Given the description of an element on the screen output the (x, y) to click on. 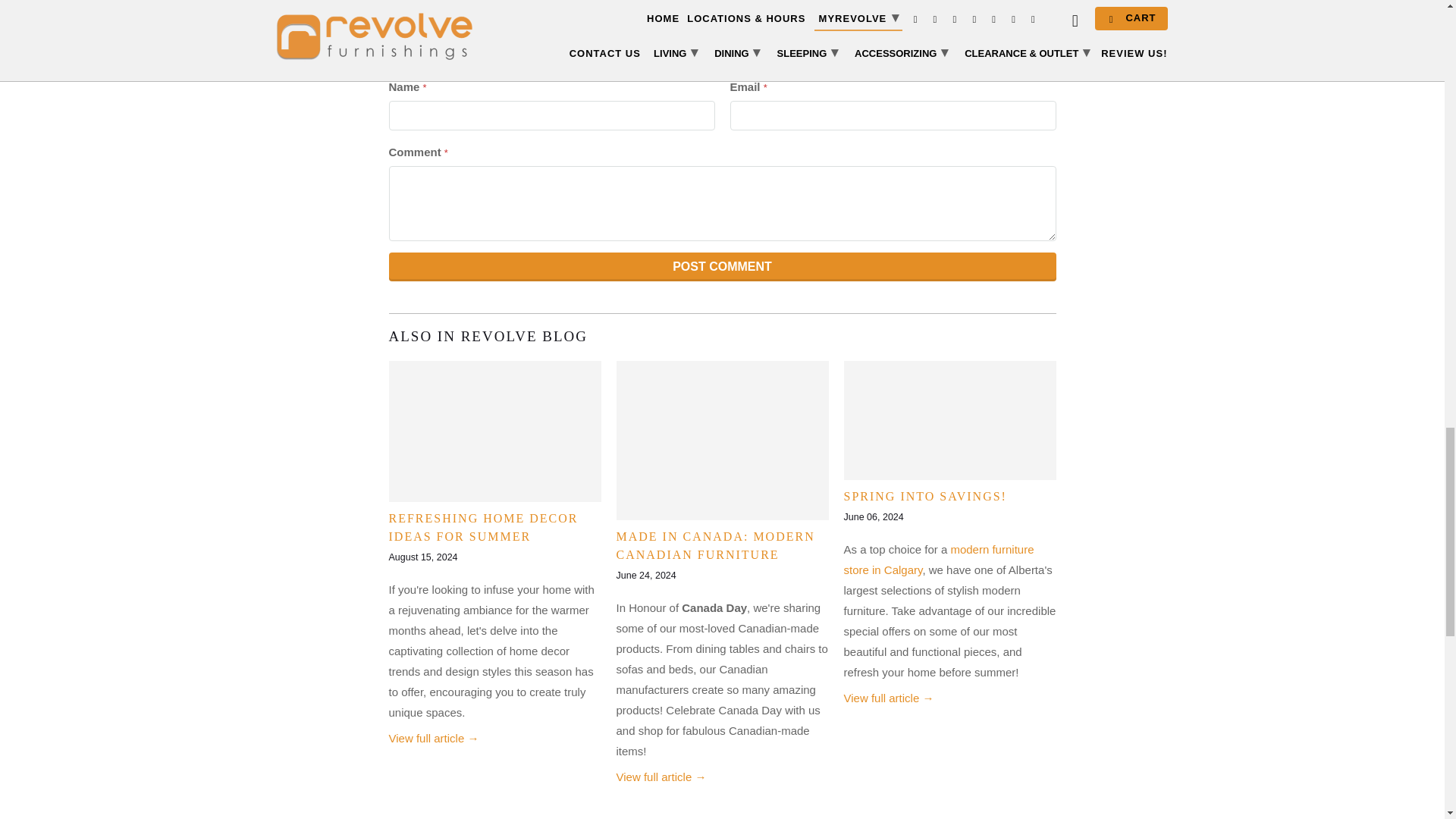
Post comment (721, 265)
Made in Canada: Modern Canadian Furniture (721, 440)
Refreshing Home Decor Ideas for Summer (493, 431)
Refreshing Home Decor Ideas for Summer (433, 738)
Made in Canada: Modern Canadian Furniture (714, 544)
Refreshing Home Decor Ideas for Summer (483, 526)
Made in Canada: Modern Canadian Furniture (660, 776)
